Given the description of an element on the screen output the (x, y) to click on. 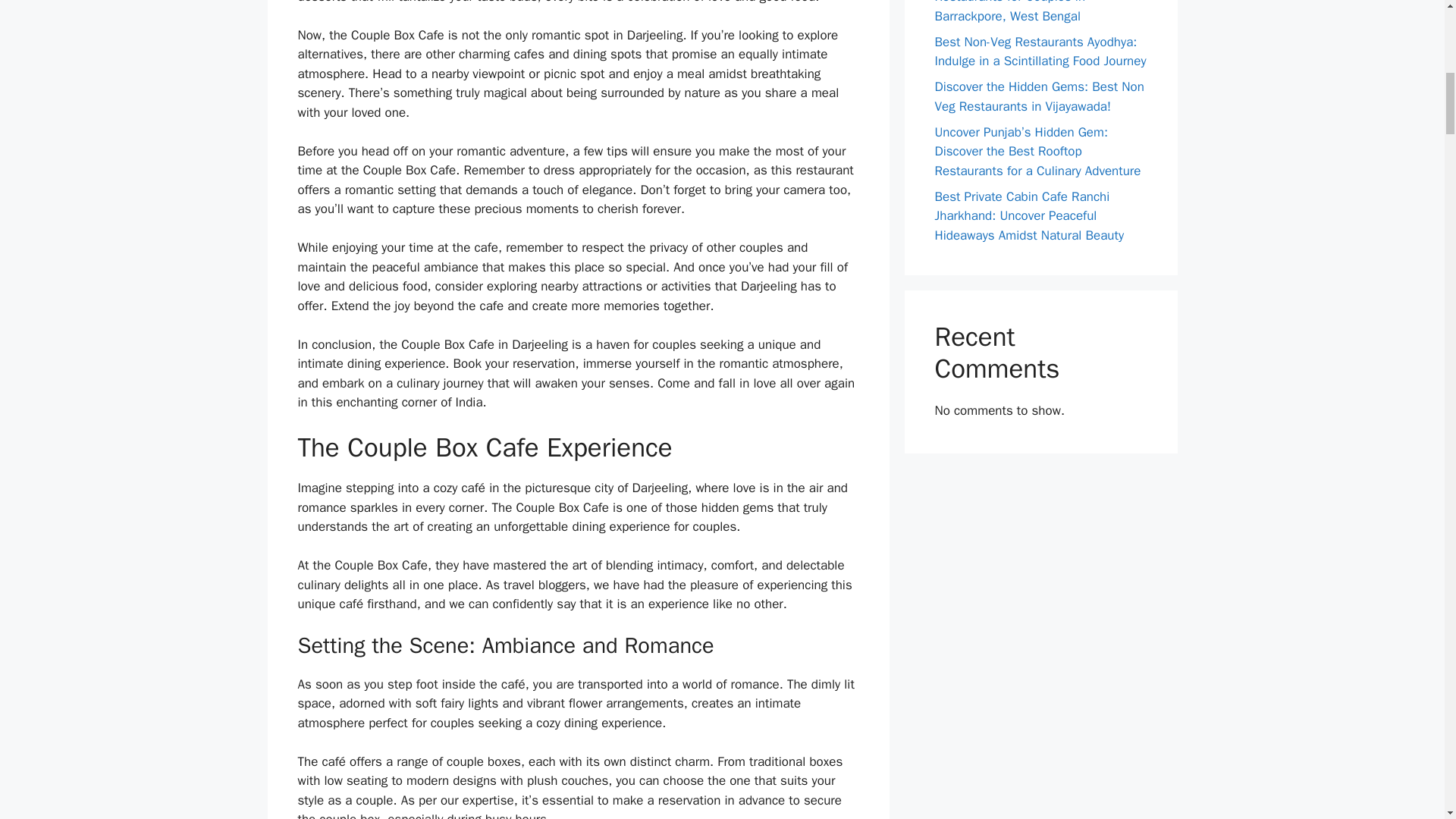
Scroll back to top (1406, 720)
